Given the description of an element on the screen output the (x, y) to click on. 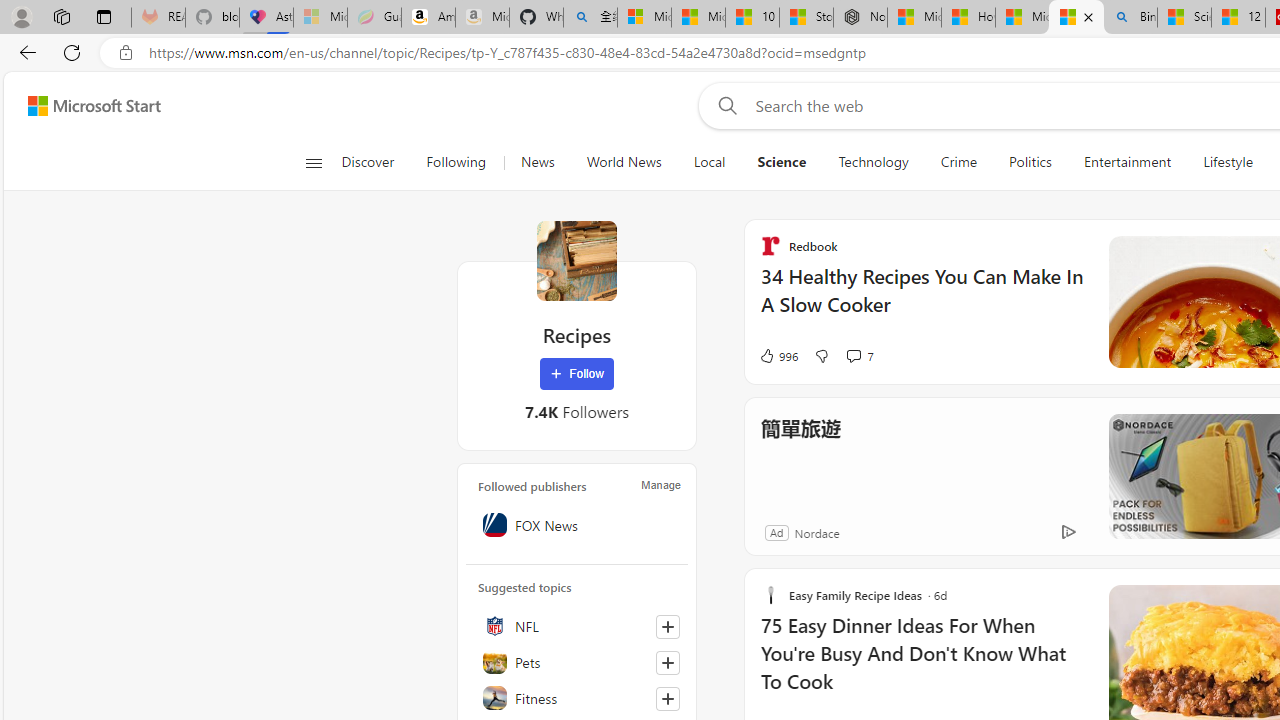
View comments 7 Comment (852, 355)
